Given the description of an element on the screen output the (x, y) to click on. 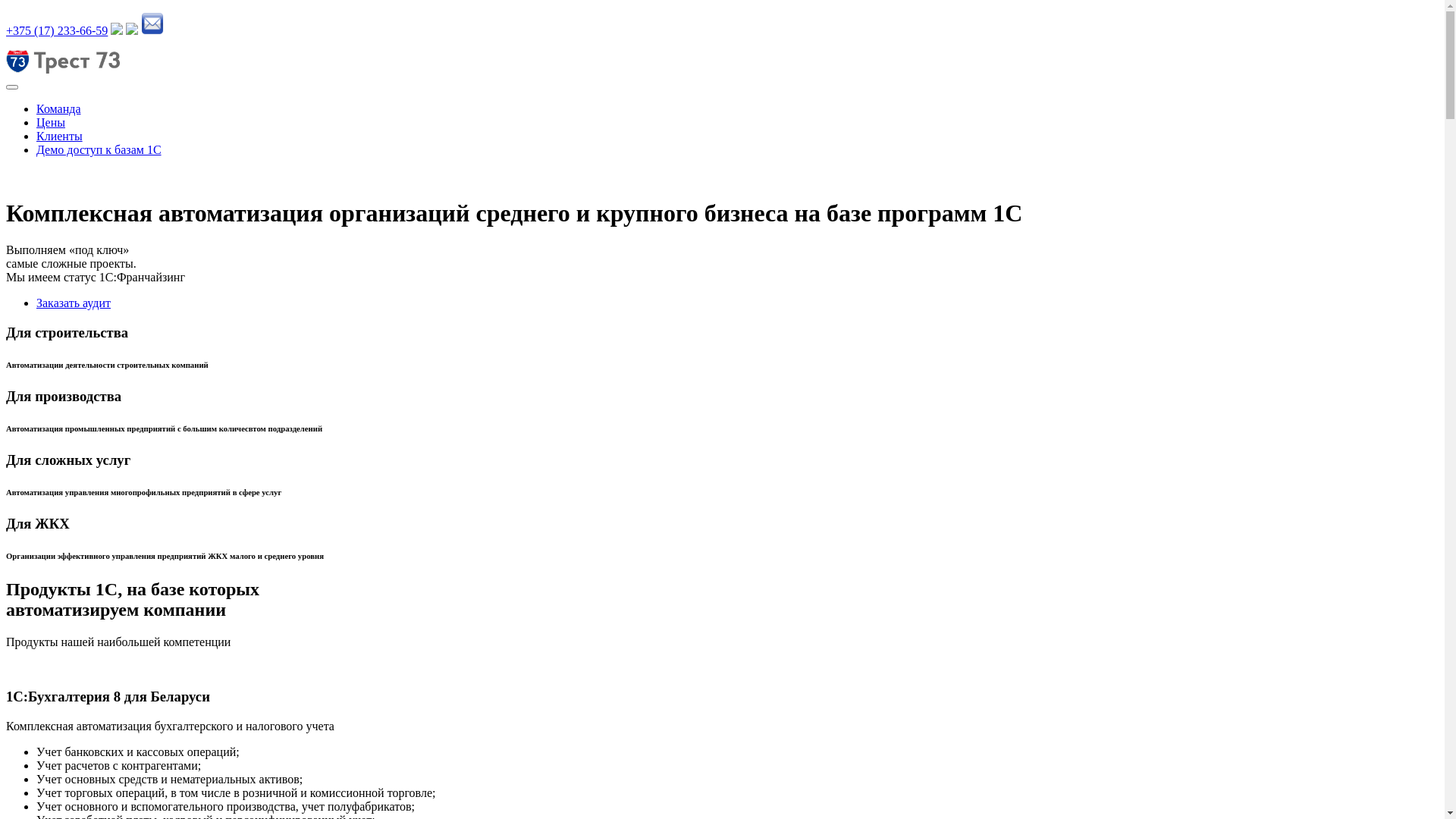
+375 (17) 233-66-59 Element type: text (56, 30)
